Given the description of an element on the screen output the (x, y) to click on. 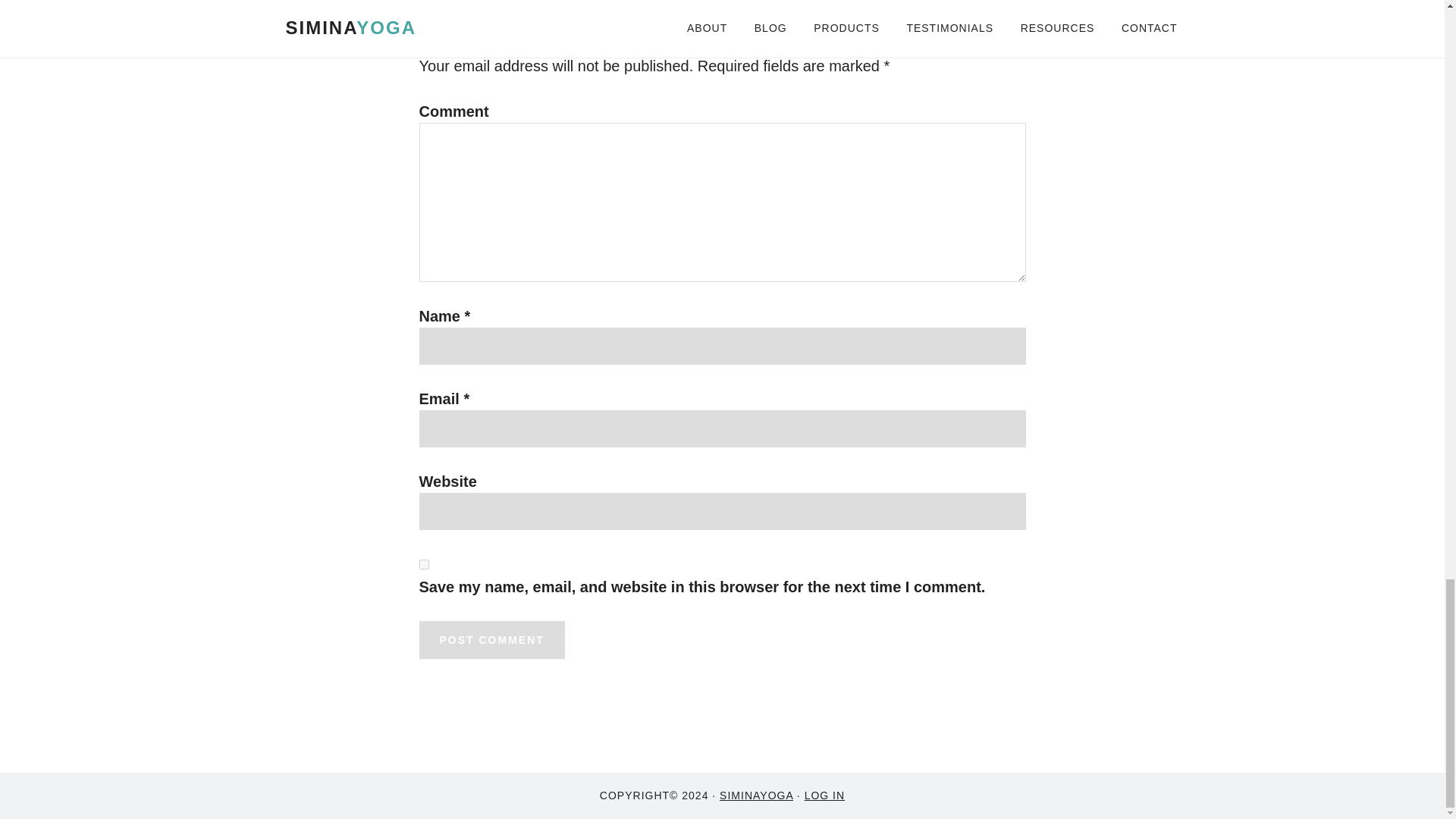
Post Comment (491, 639)
LOG IN (824, 795)
yes (423, 564)
SIMINAYOGA (756, 795)
Post Comment (491, 639)
